Given the description of an element on the screen output the (x, y) to click on. 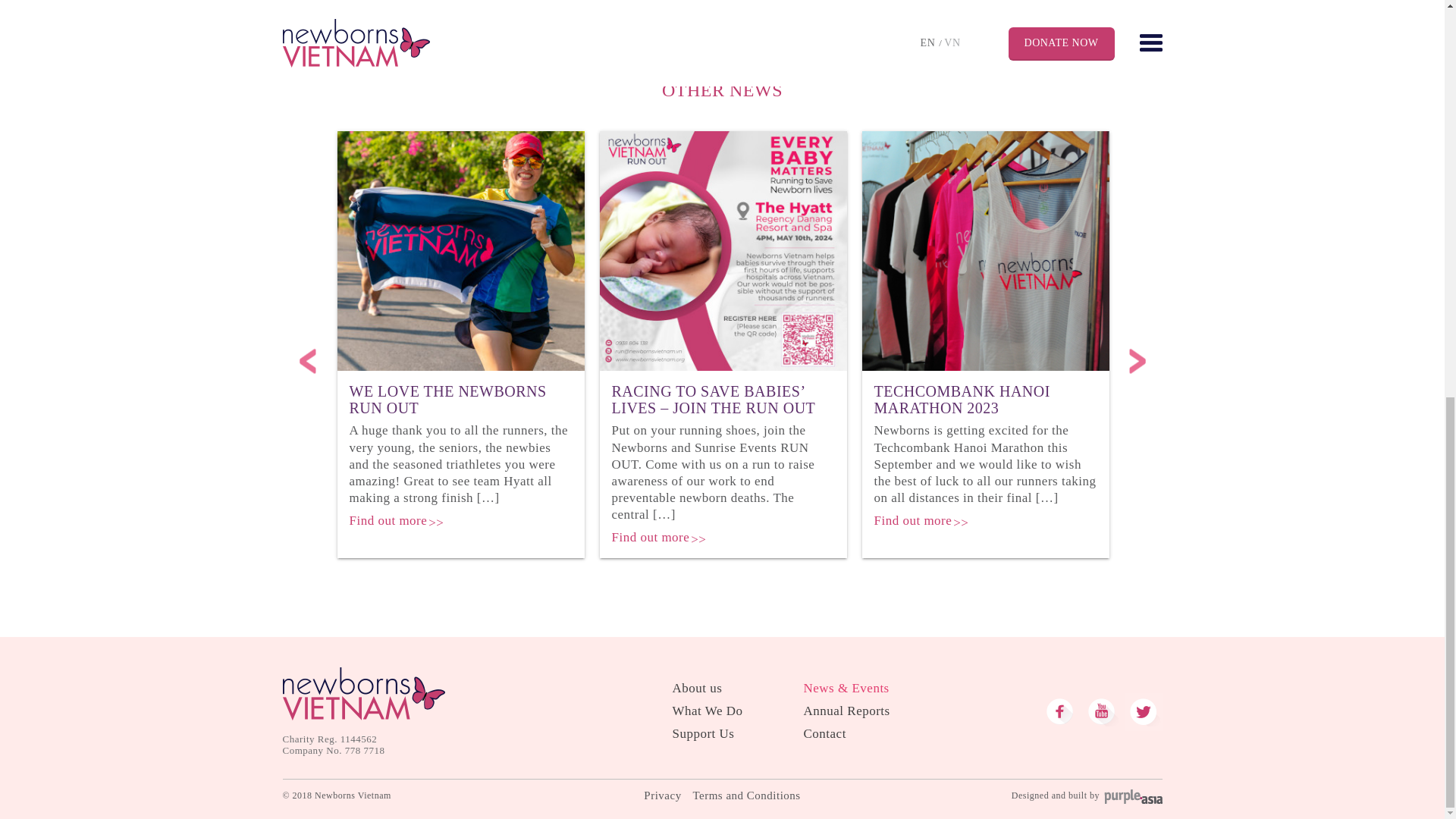
Find out more (912, 520)
Find out more (649, 536)
Find out more (387, 520)
